Given the description of an element on the screen output the (x, y) to click on. 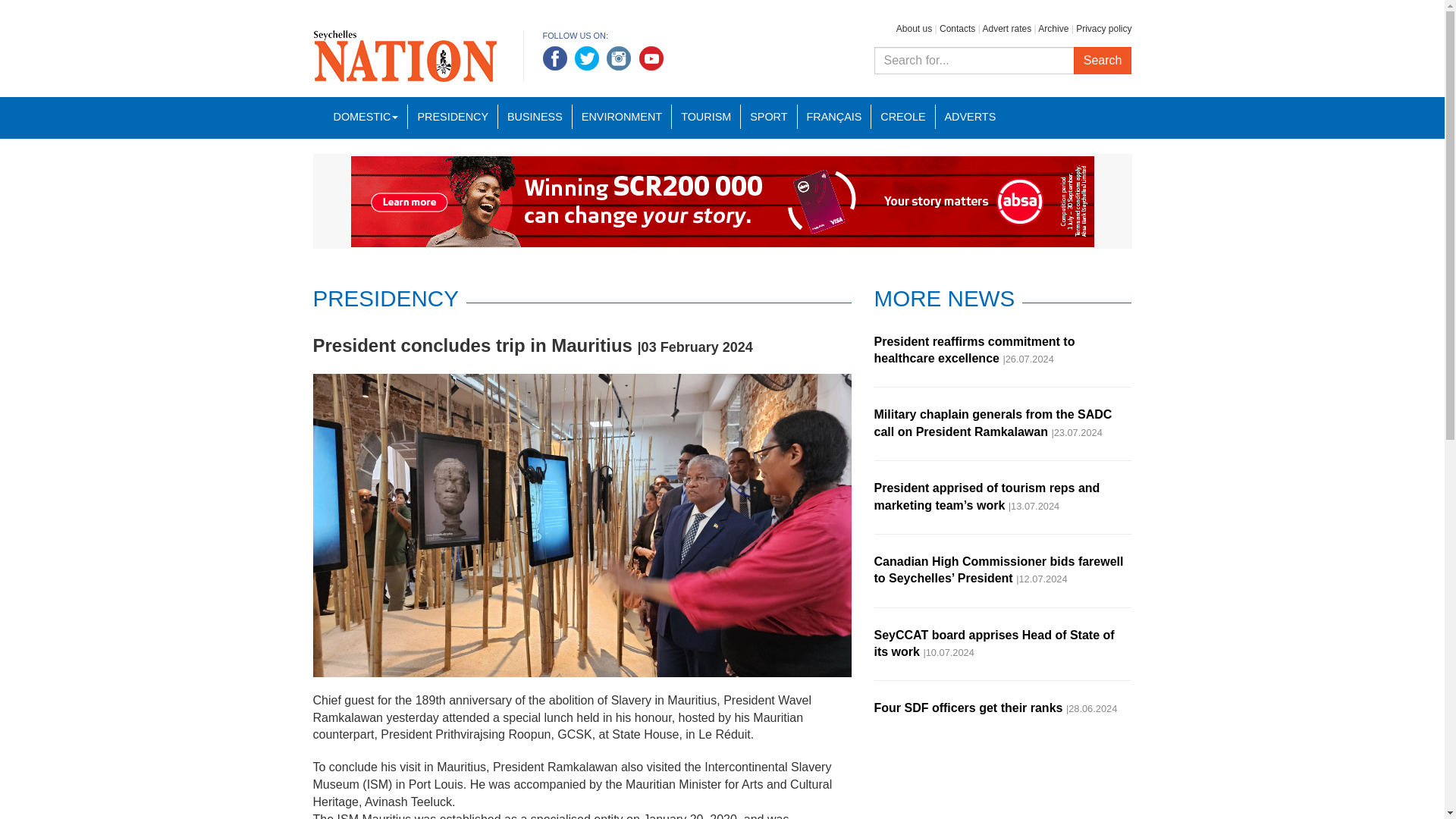
Four SDF officers get their ranks (967, 707)
Search (1103, 60)
Advert rates (1005, 28)
SPORT (767, 116)
SeyCCAT board apprises Head of State of its work (993, 643)
DOMESTIC (365, 116)
CREOLE (902, 116)
ADVERTS (970, 116)
President reaffirms commitment to healthcare excellence (973, 349)
BUSINESS (534, 116)
Privacy policy (1103, 28)
PRESIDENCY (452, 116)
ENVIRONMENT (621, 116)
TOURISM (705, 116)
